Given the description of an element on the screen output the (x, y) to click on. 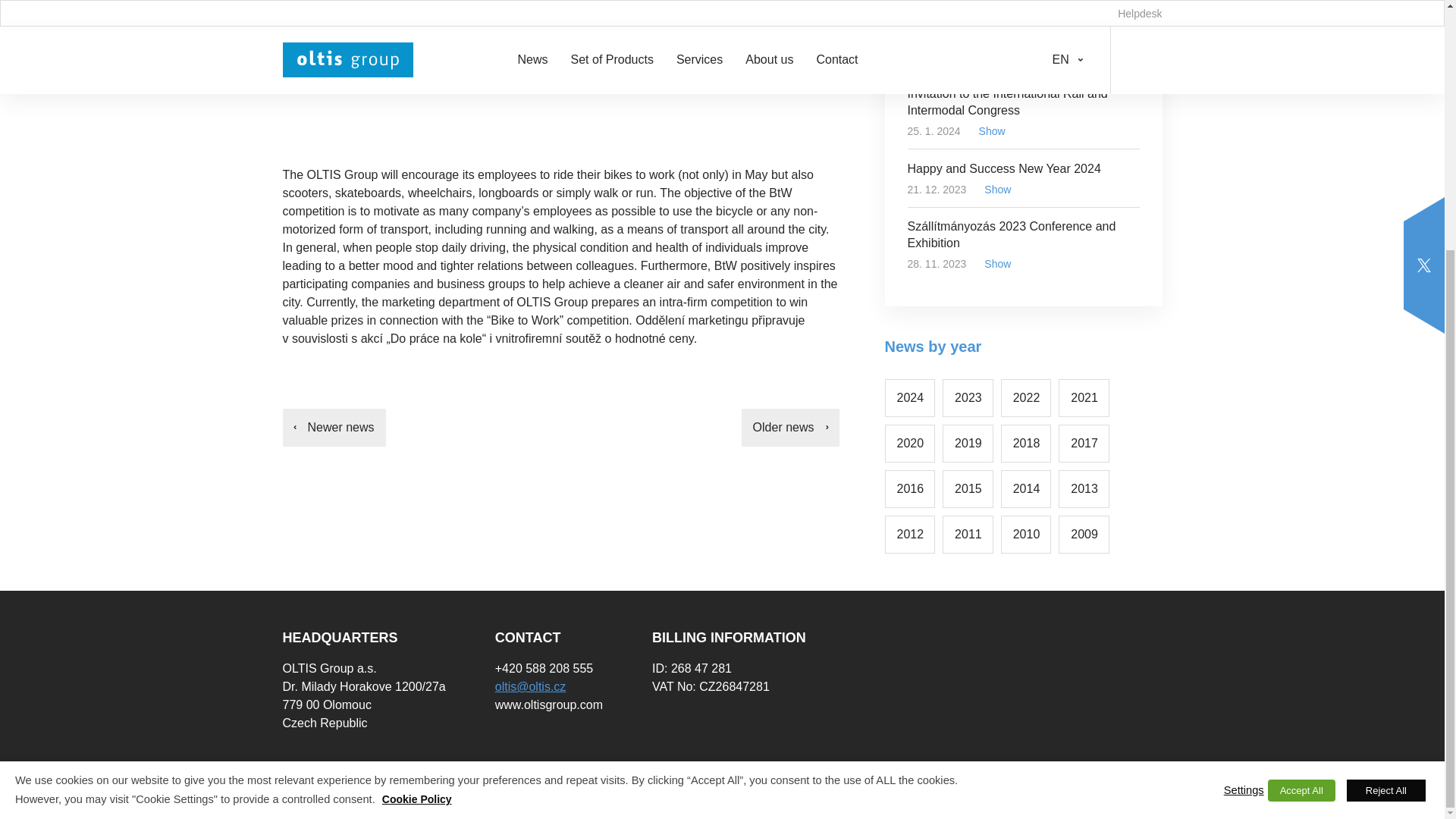
Newer news (333, 427)
Older news (790, 427)
